Given the description of an element on the screen output the (x, y) to click on. 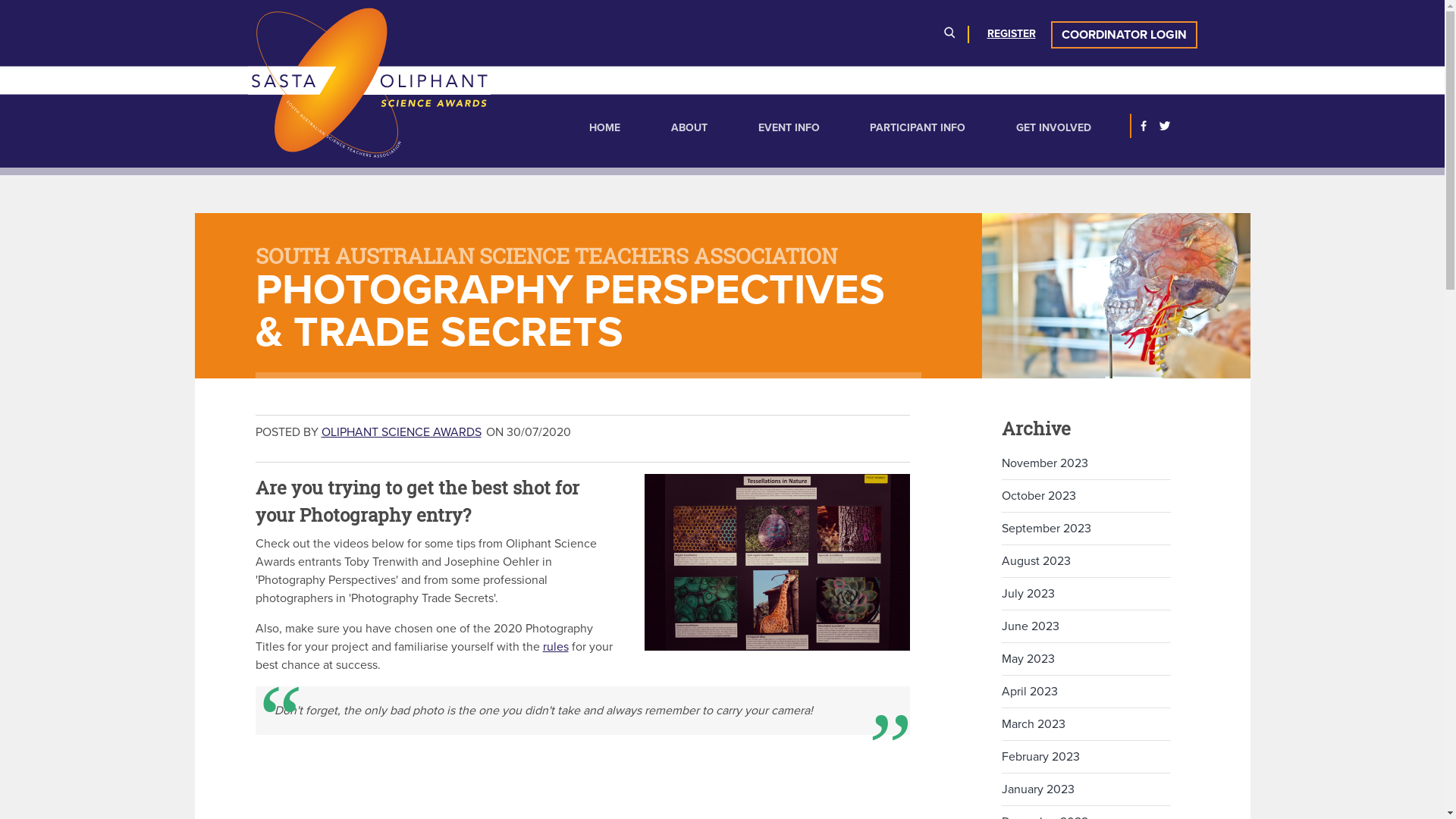
July 2023 Element type: text (1085, 593)
October 2023 Element type: text (1085, 495)
May 2023 Element type: text (1085, 658)
REGISTER Element type: text (1011, 33)
March 2023 Element type: text (1085, 724)
COORDINATOR LOGIN Element type: text (1124, 34)
September 2023 Element type: text (1085, 528)
rules Element type: text (555, 646)
February 2023 Element type: text (1085, 756)
OLIPHANT SCIENCE AWARDS Element type: text (401, 431)
HOME Element type: text (604, 127)
Search site Element type: hover (949, 34)
August 2023 Element type: text (1085, 561)
EVENT INFO Element type: text (788, 127)
January 2023 Element type: text (1085, 789)
November 2023 Element type: text (1085, 463)
June 2023 Element type: text (1085, 626)
April 2023 Element type: text (1085, 691)
ABOUT Element type: text (689, 127)
PARTICIPANT INFO Element type: text (917, 127)
GET INVOLVED Element type: text (1053, 127)
Follow SASTA on Twitter Element type: hover (1164, 125)
Follow SASTA on Facebook Element type: hover (1143, 125)
